Given the description of an element on the screen output the (x, y) to click on. 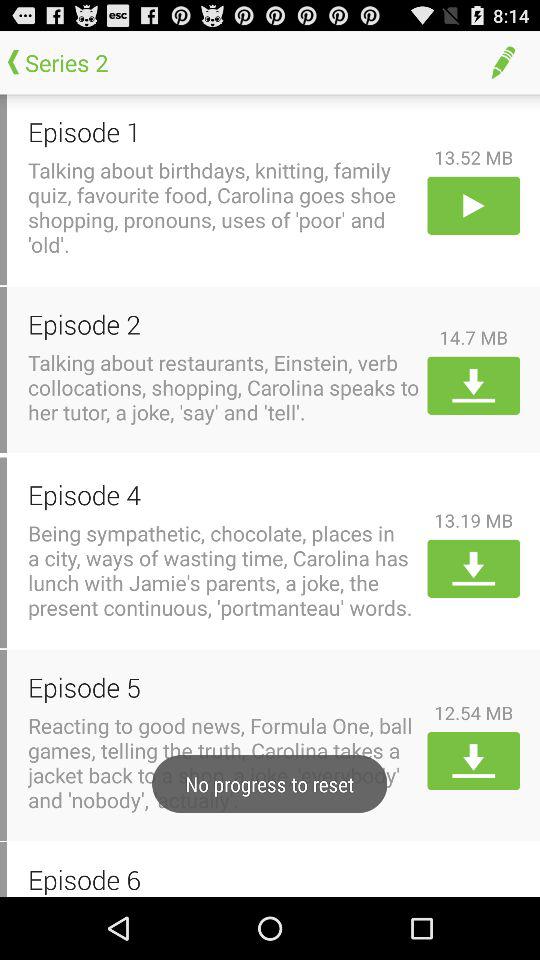
download (473, 761)
